Given the description of an element on the screen output the (x, y) to click on. 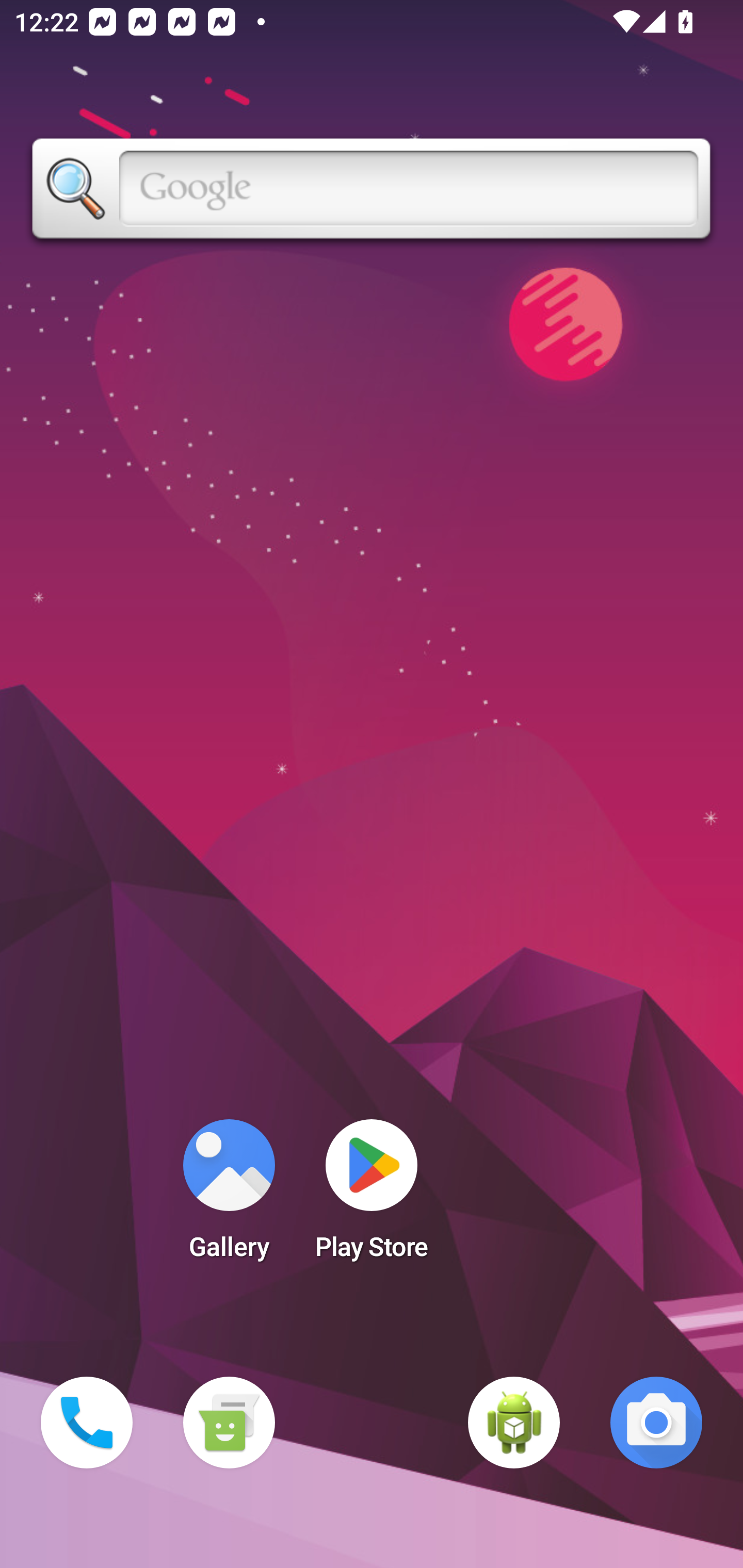
Gallery (228, 1195)
Play Store (371, 1195)
Phone (86, 1422)
Messaging (228, 1422)
WebView Browser Tester (513, 1422)
Camera (656, 1422)
